Given the description of an element on the screen output the (x, y) to click on. 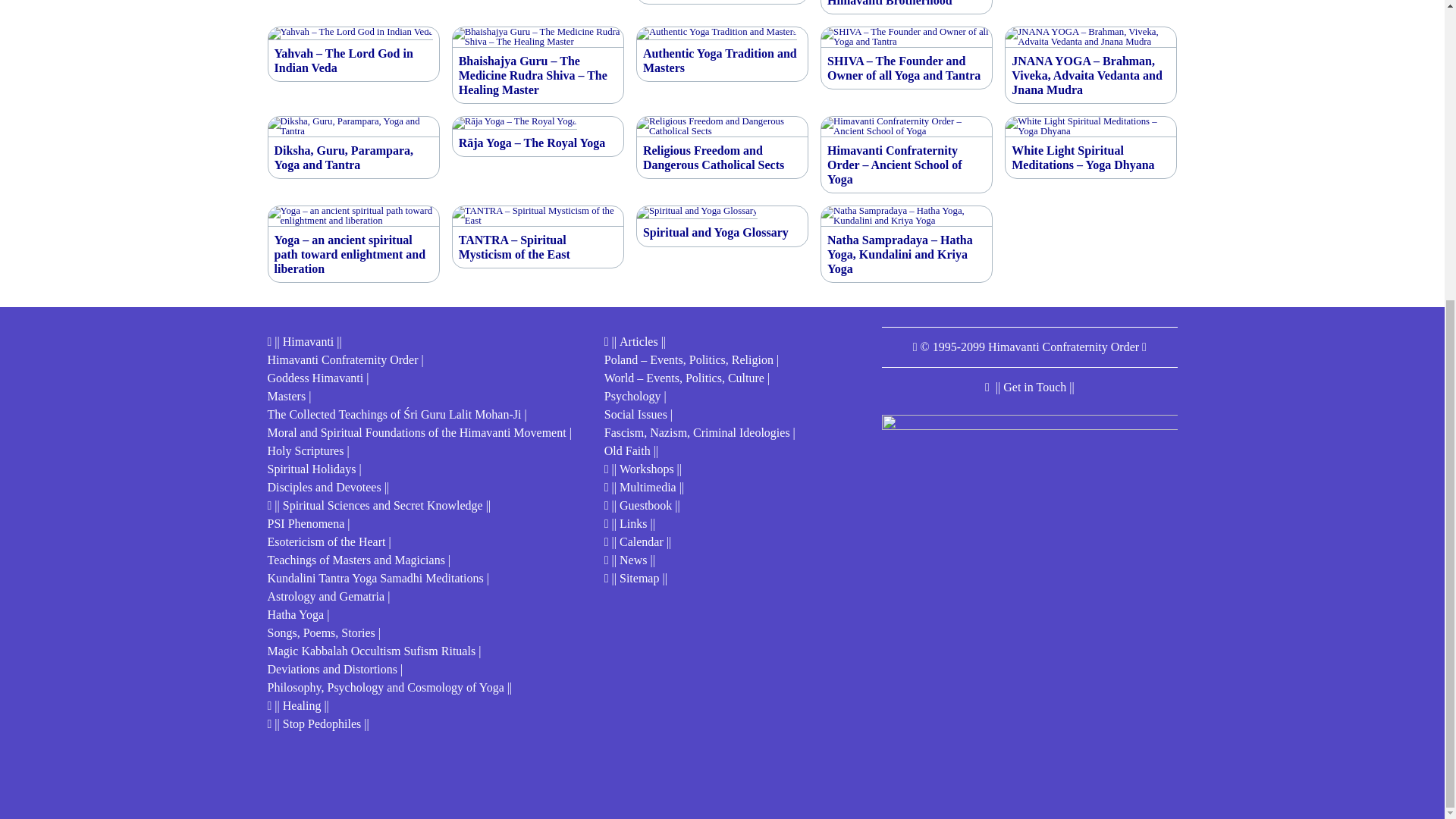
Authentic Yoga Tradition and Masters (722, 60)
Diksha, Guru, Parampara, Yoga and Tantra (353, 157)
Religious Freedom and Dangerous Catholical Sects (722, 157)
